Given the description of an element on the screen output the (x, y) to click on. 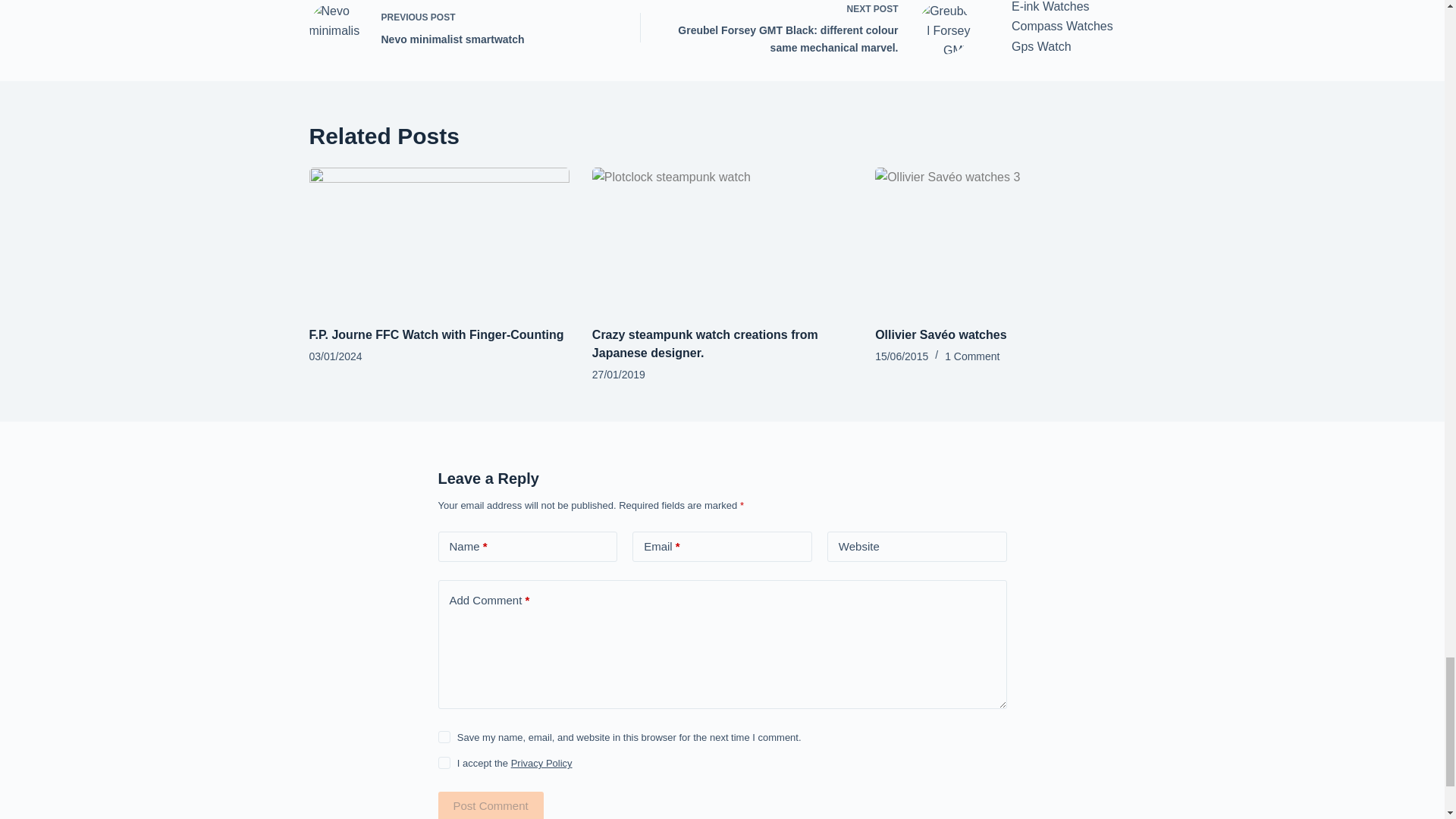
on (443, 762)
yes (460, 28)
